Given the description of an element on the screen output the (x, y) to click on. 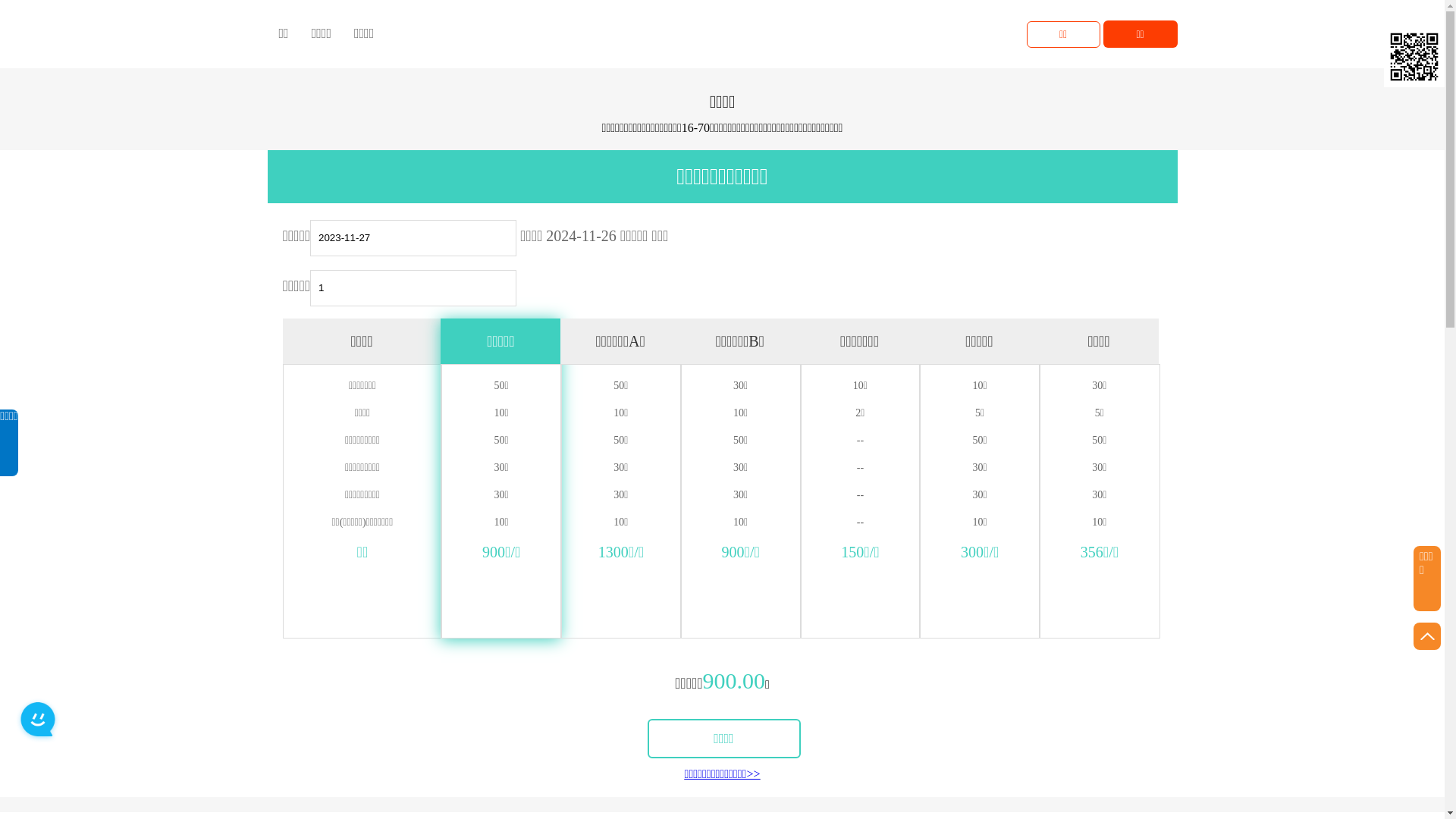
2023-11-27 Element type: text (413, 237)
